Given the description of an element on the screen output the (x, y) to click on. 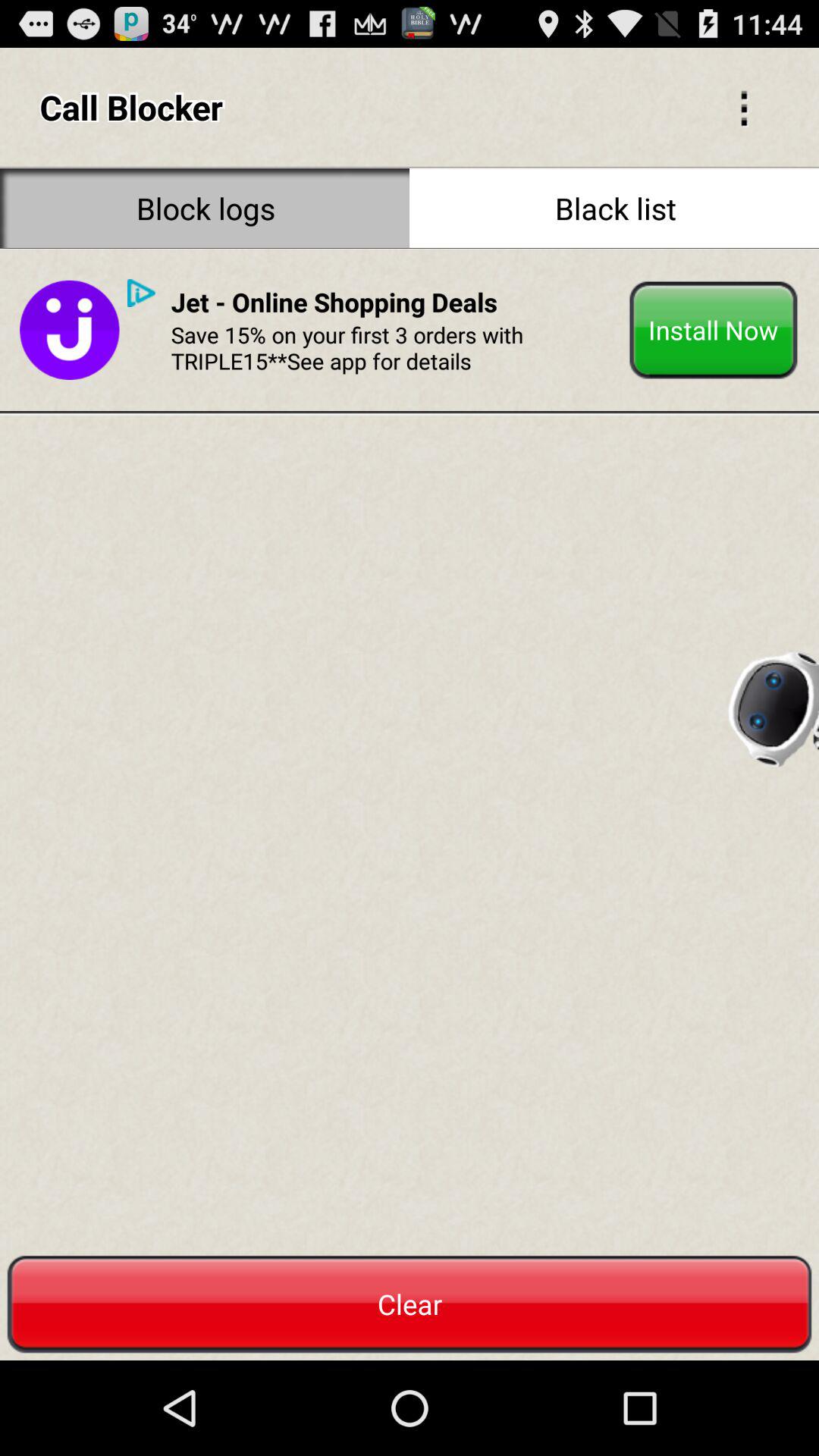
press the block logs button (204, 207)
